Given the description of an element on the screen output the (x, y) to click on. 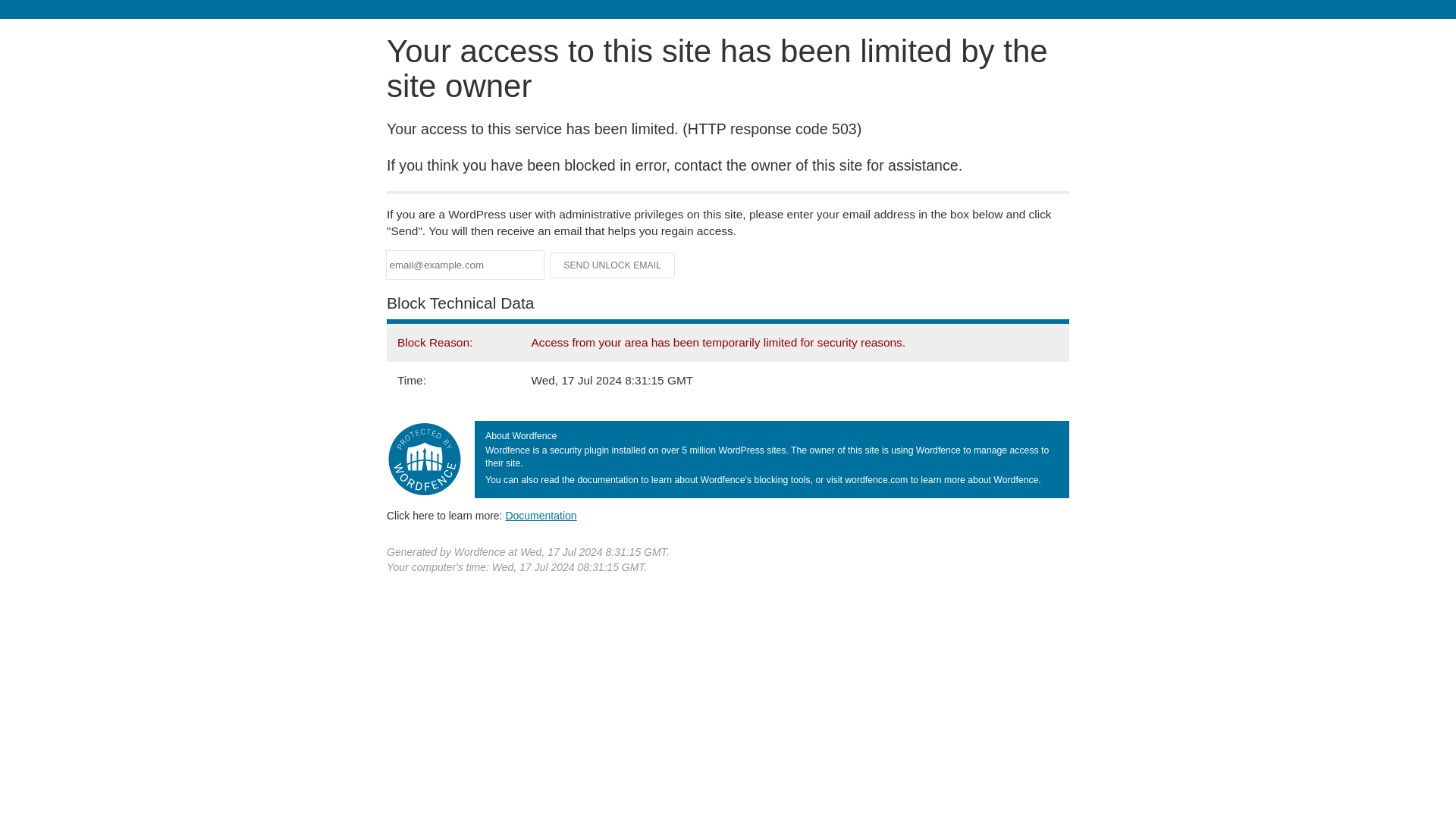
Send Unlock Email (612, 265)
Send Unlock Email (612, 265)
Documentation (540, 515)
